Given the description of an element on the screen output the (x, y) to click on. 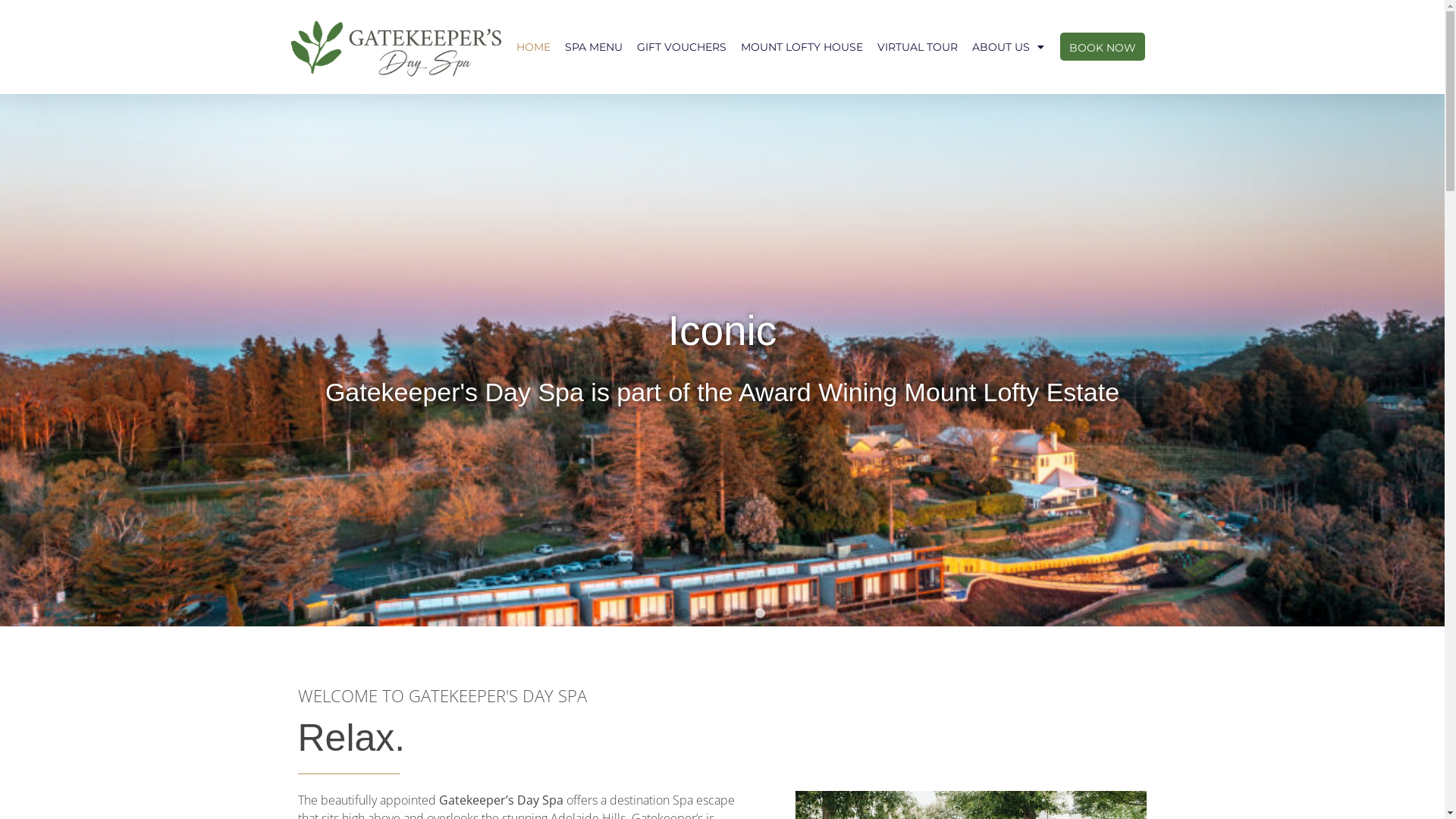
BOOK NOW Element type: text (1102, 46)
VIRTUAL TOUR Element type: text (917, 46)
MOUNT LOFTY HOUSE Element type: text (801, 46)
GIFT VOUCHERS Element type: text (681, 46)
ABOUT US Element type: text (1008, 46)
SPA MENU Element type: text (593, 46)
HOME Element type: text (533, 46)
